Given the description of an element on the screen output the (x, y) to click on. 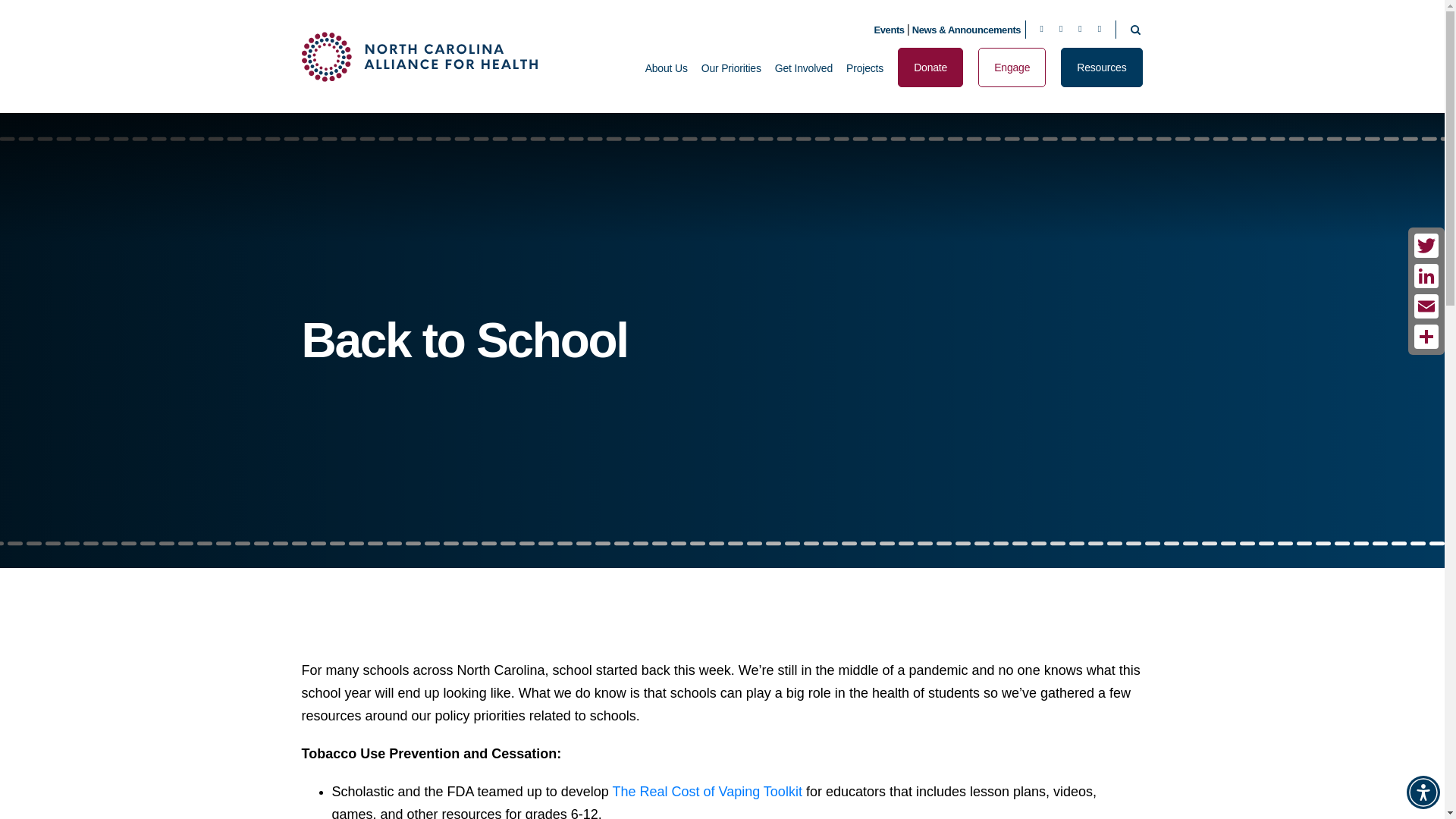
Events (889, 30)
Donate (930, 66)
Email (1425, 306)
Our Priorities (731, 79)
Engage (1011, 66)
Resources (1101, 66)
Accessibility Menu (1422, 792)
Twitter (1425, 245)
LinkedIn (1425, 276)
The Real Cost of Vaping Toolkit (706, 791)
Open search button (1135, 29)
